Given the description of an element on the screen output the (x, y) to click on. 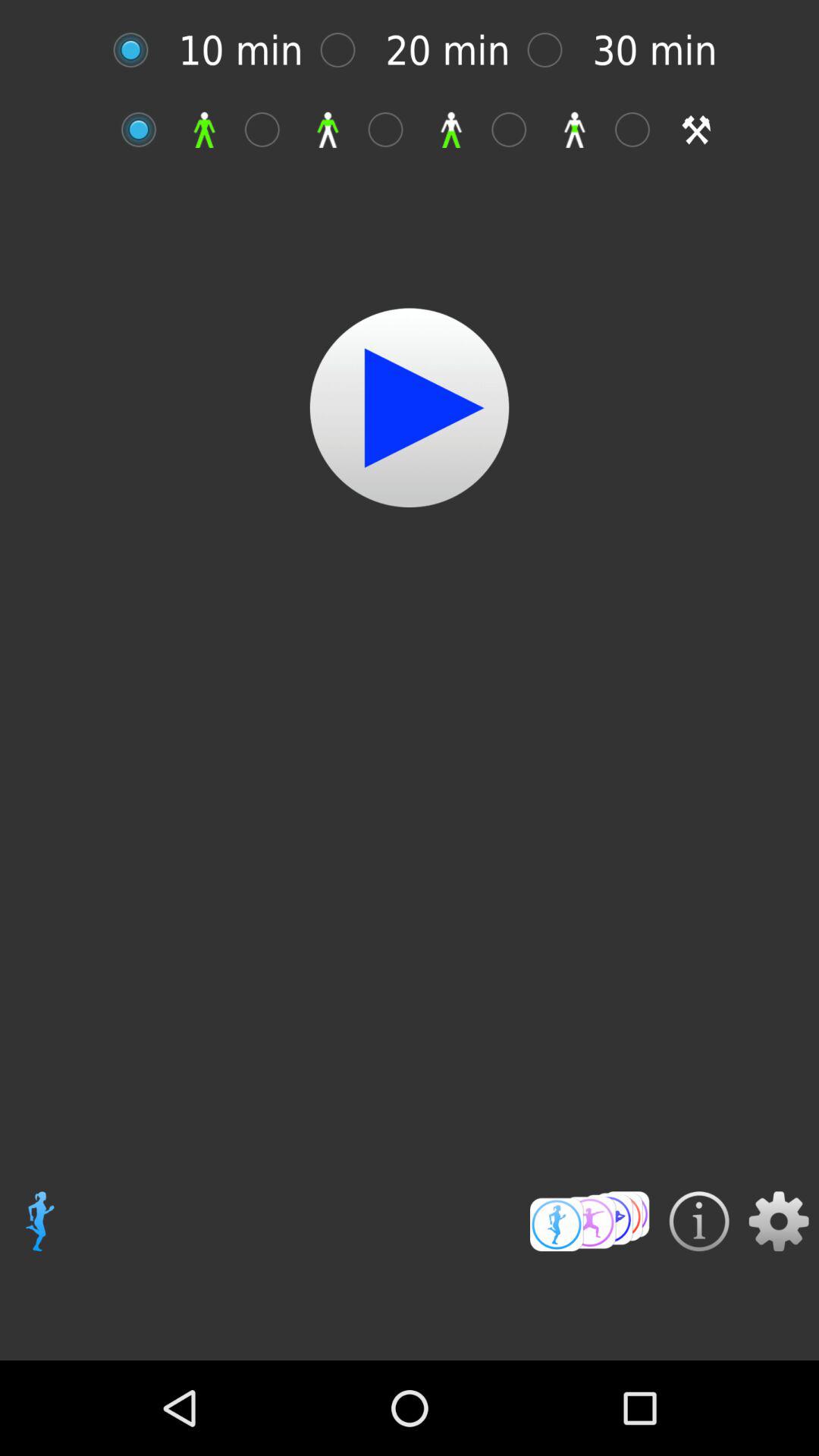
start video (409, 407)
